Given the description of an element on the screen output the (x, y) to click on. 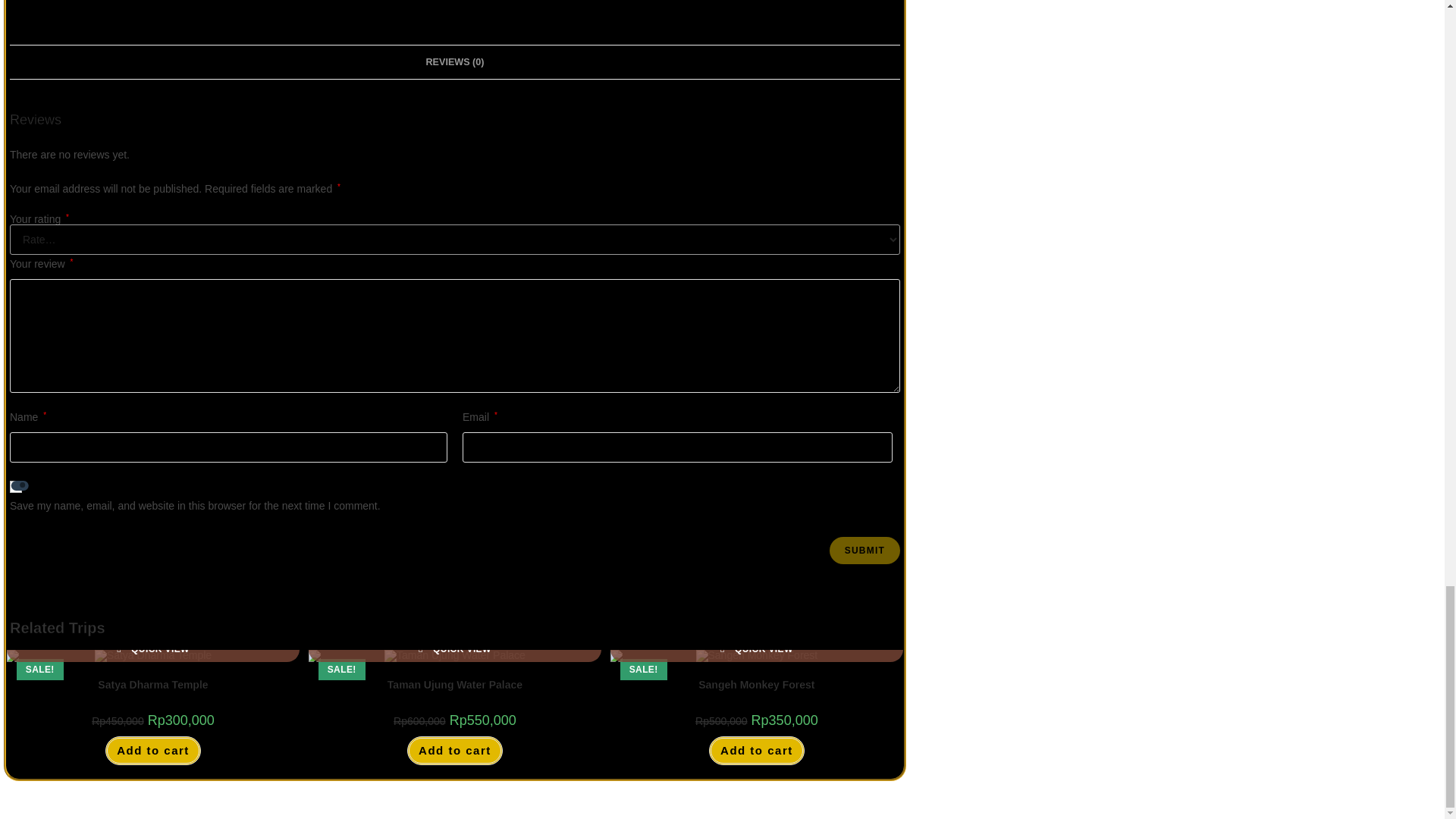
Add to cart (152, 750)
Satya Dharma Temple (152, 684)
yes (15, 486)
Submit (864, 550)
QUICK VIEW (152, 649)
Submit (864, 550)
